Given the description of an element on the screen output the (x, y) to click on. 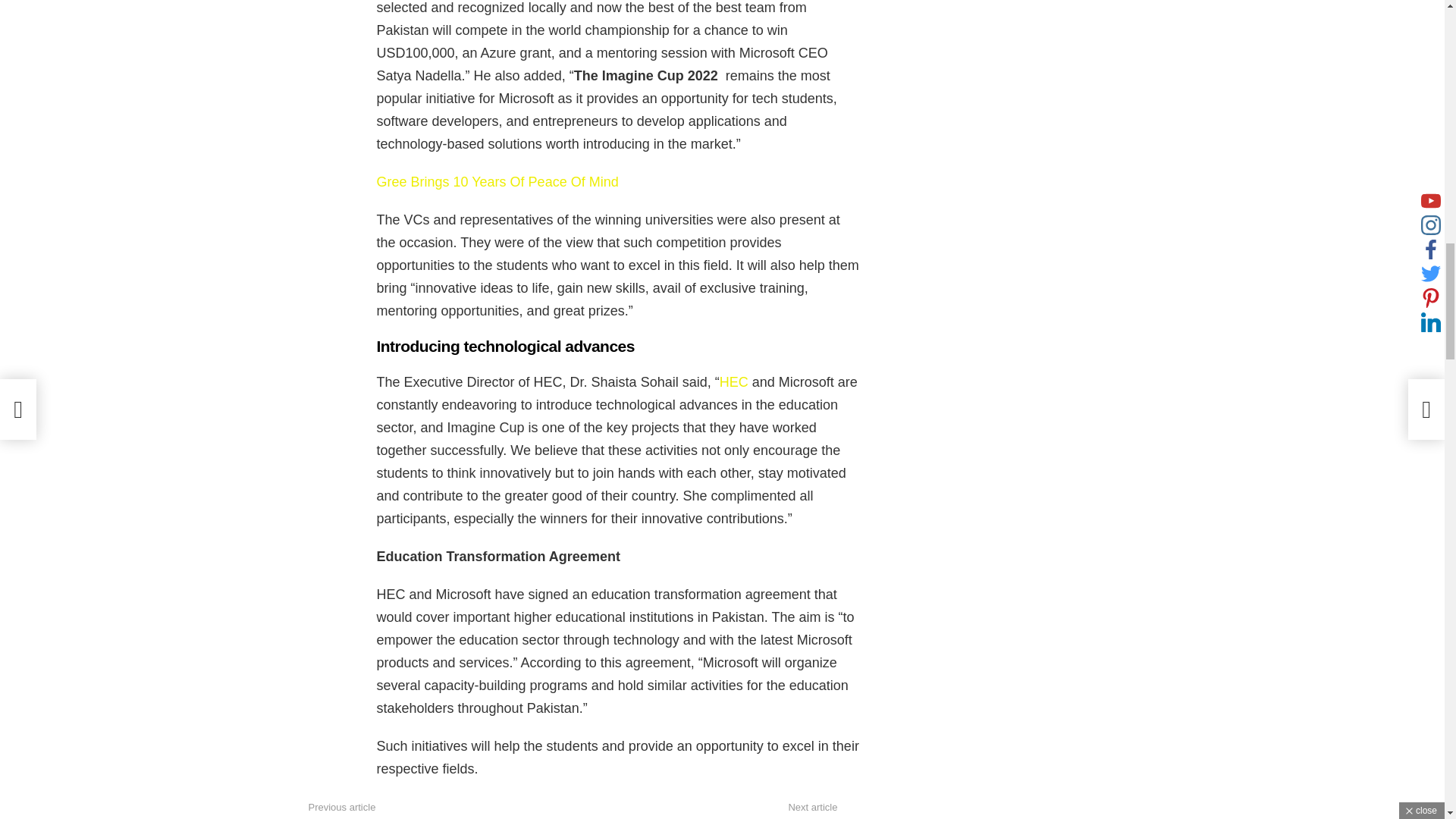
Gree Brings 10 Years Of Peace Of Mind (496, 181)
HEC (733, 381)
